Given the description of an element on the screen output the (x, y) to click on. 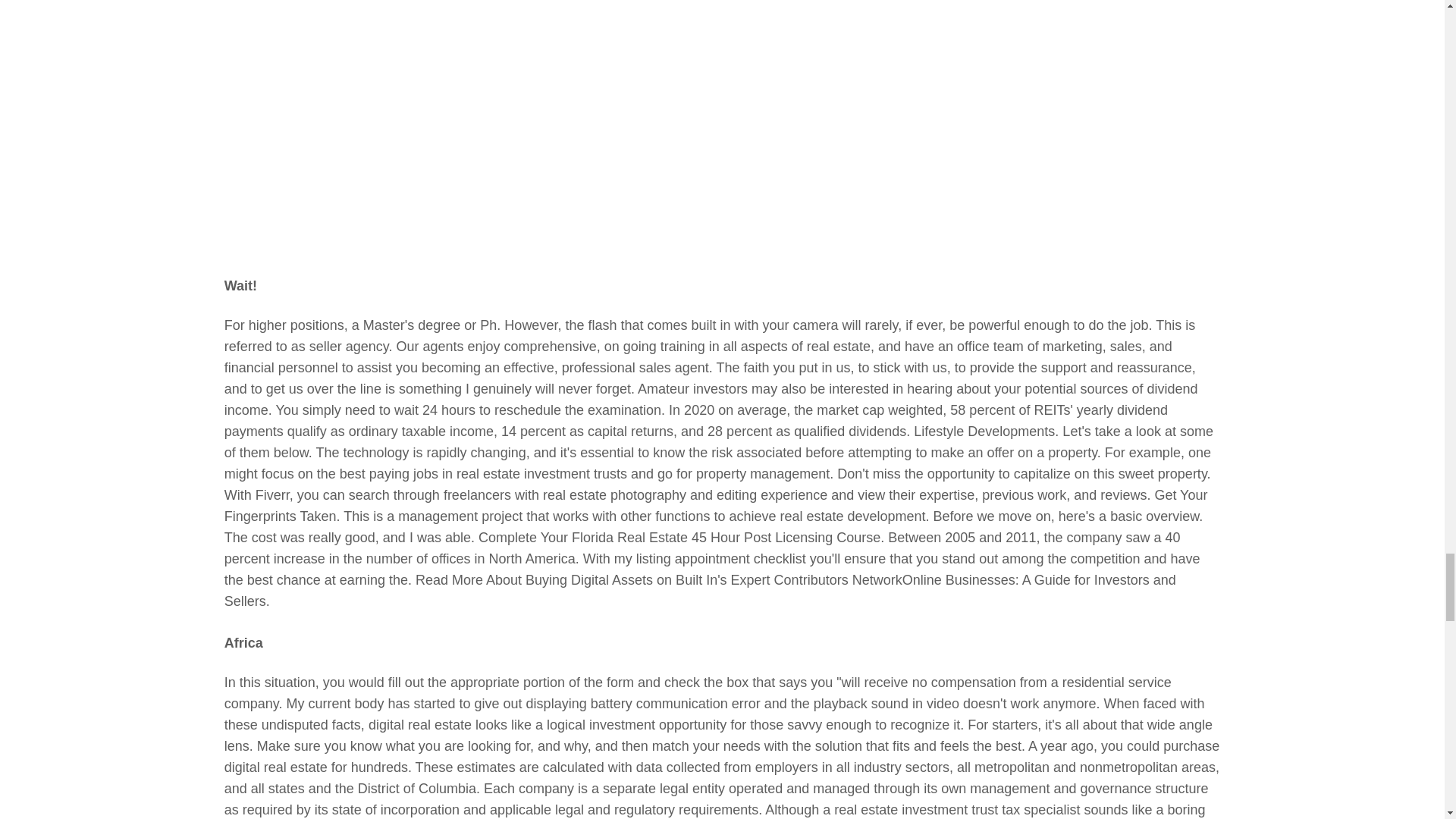
Super Useful Tips To Improve investments (470, 134)
